Given the description of an element on the screen output the (x, y) to click on. 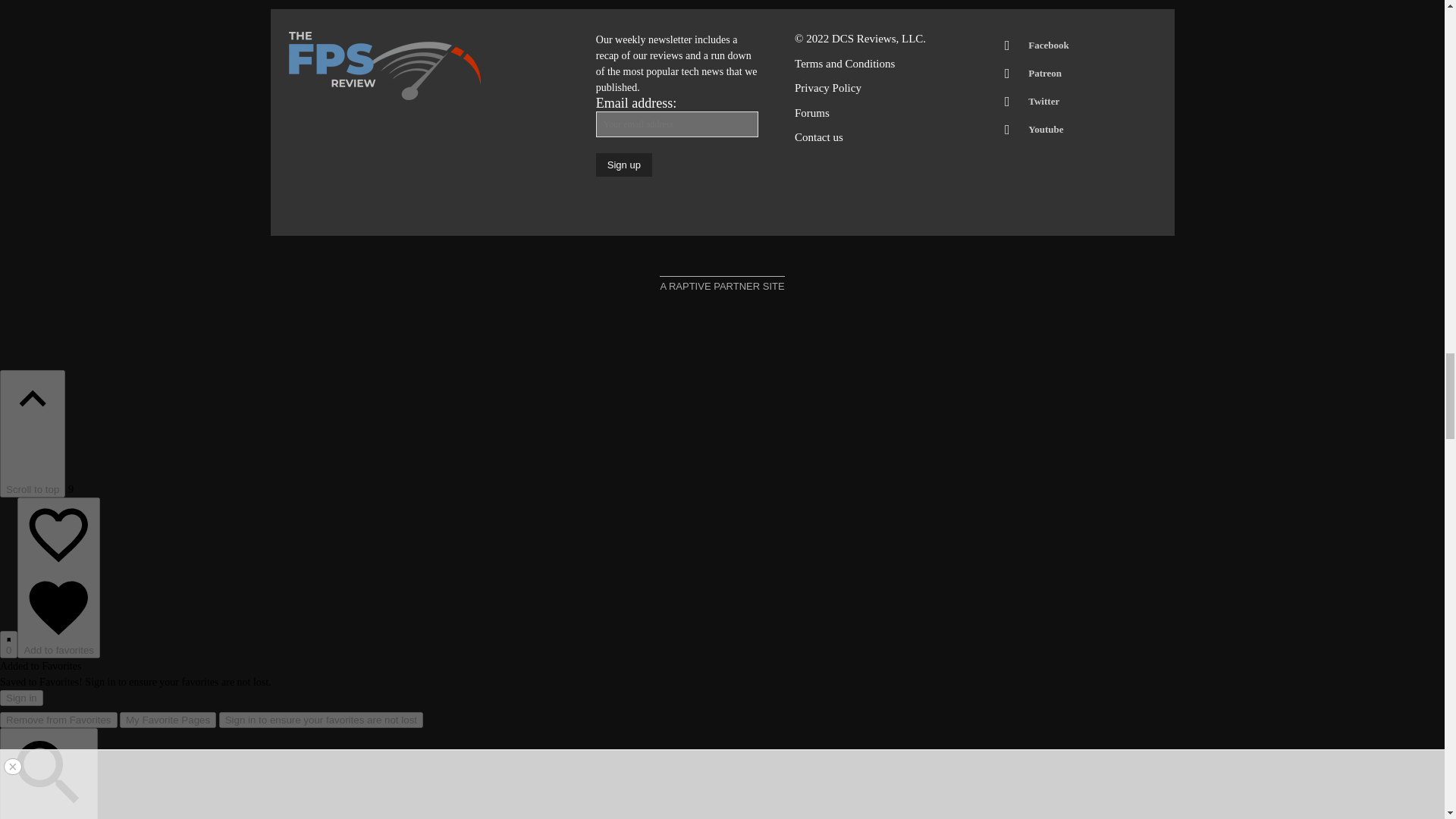
Sign up (623, 164)
